Given the description of an element on the screen output the (x, y) to click on. 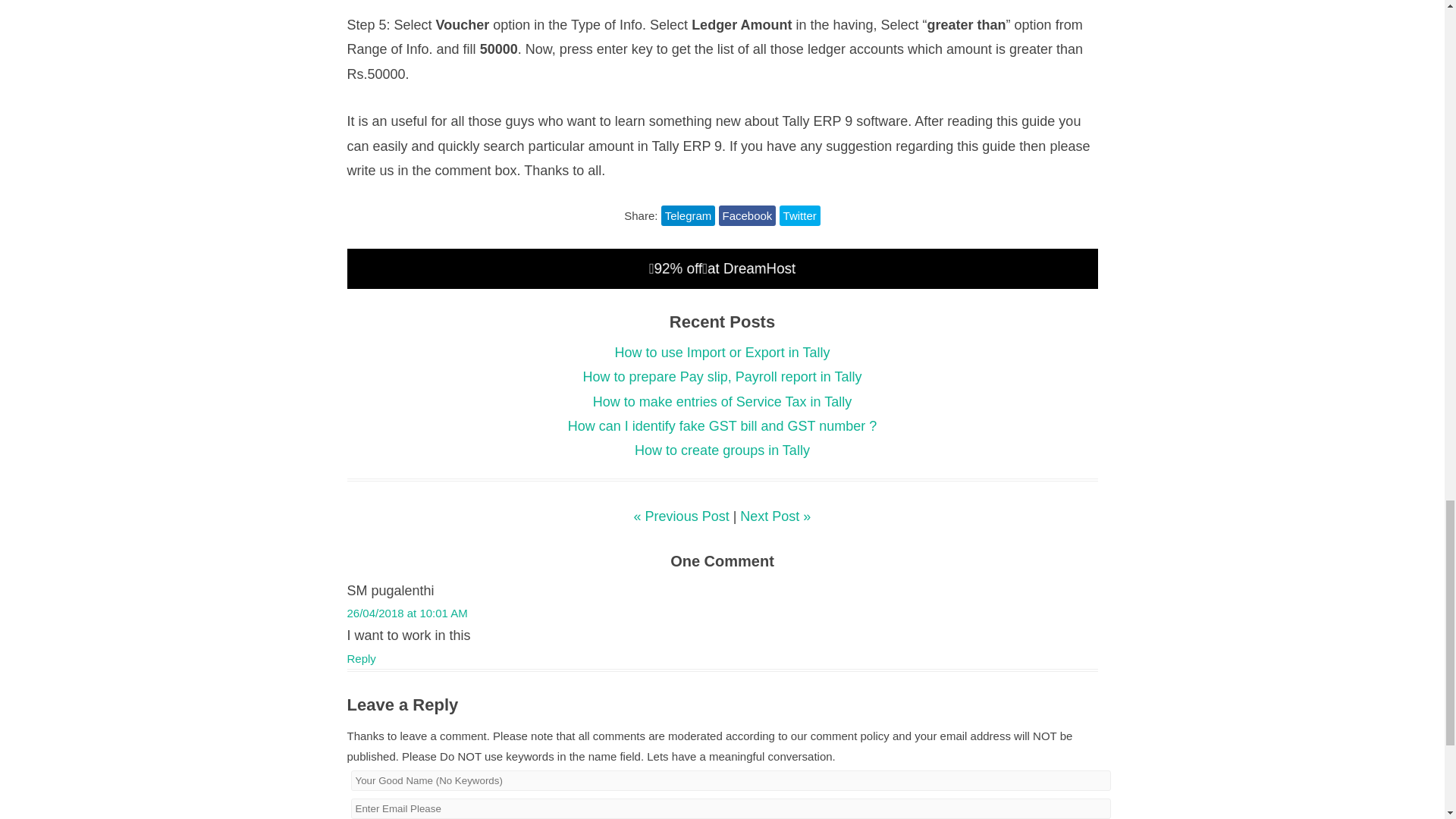
How to prepare Pay slip, Payroll report in Tally (722, 376)
How to use Import or Export in Tally (721, 352)
Facebook (747, 215)
Tweet on Twitter (799, 215)
How to make entries of Service Tax in Tally (721, 401)
Share on Facebook (747, 215)
Share on Telegram (688, 215)
Telegram (688, 215)
How to create groups in Tally (721, 450)
How can I identify fake GST bill and GST number ? (722, 426)
